Given the description of an element on the screen output the (x, y) to click on. 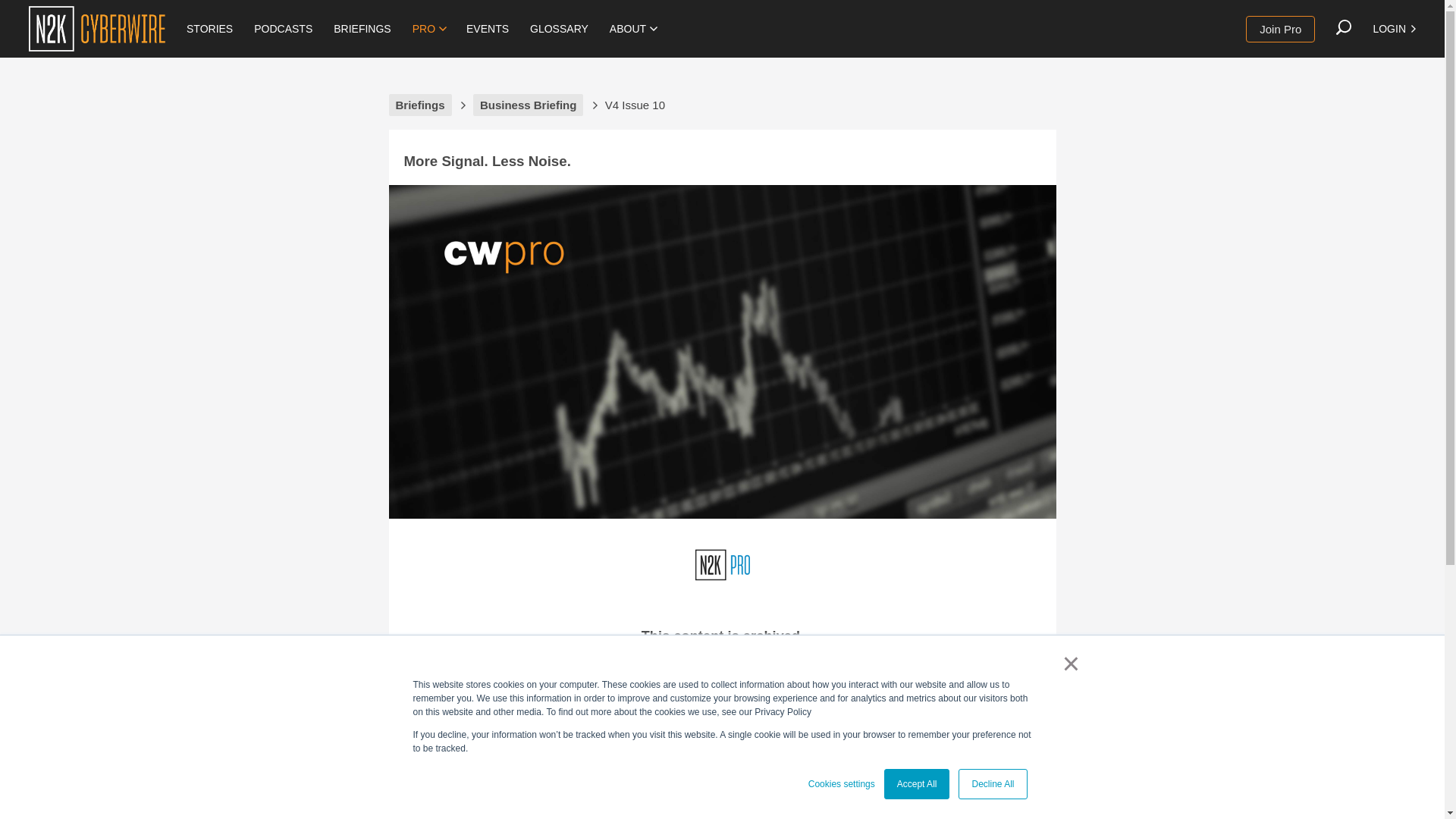
Accept All (916, 784)
Cookies settings (841, 784)
Decline All (992, 784)
STORIES (209, 28)
GLOSSARY (558, 28)
BRIEFINGS (362, 28)
EVENTS (487, 28)
Join Pro (1280, 28)
PODCASTS (283, 28)
Search the site (1343, 27)
